Given the description of an element on the screen output the (x, y) to click on. 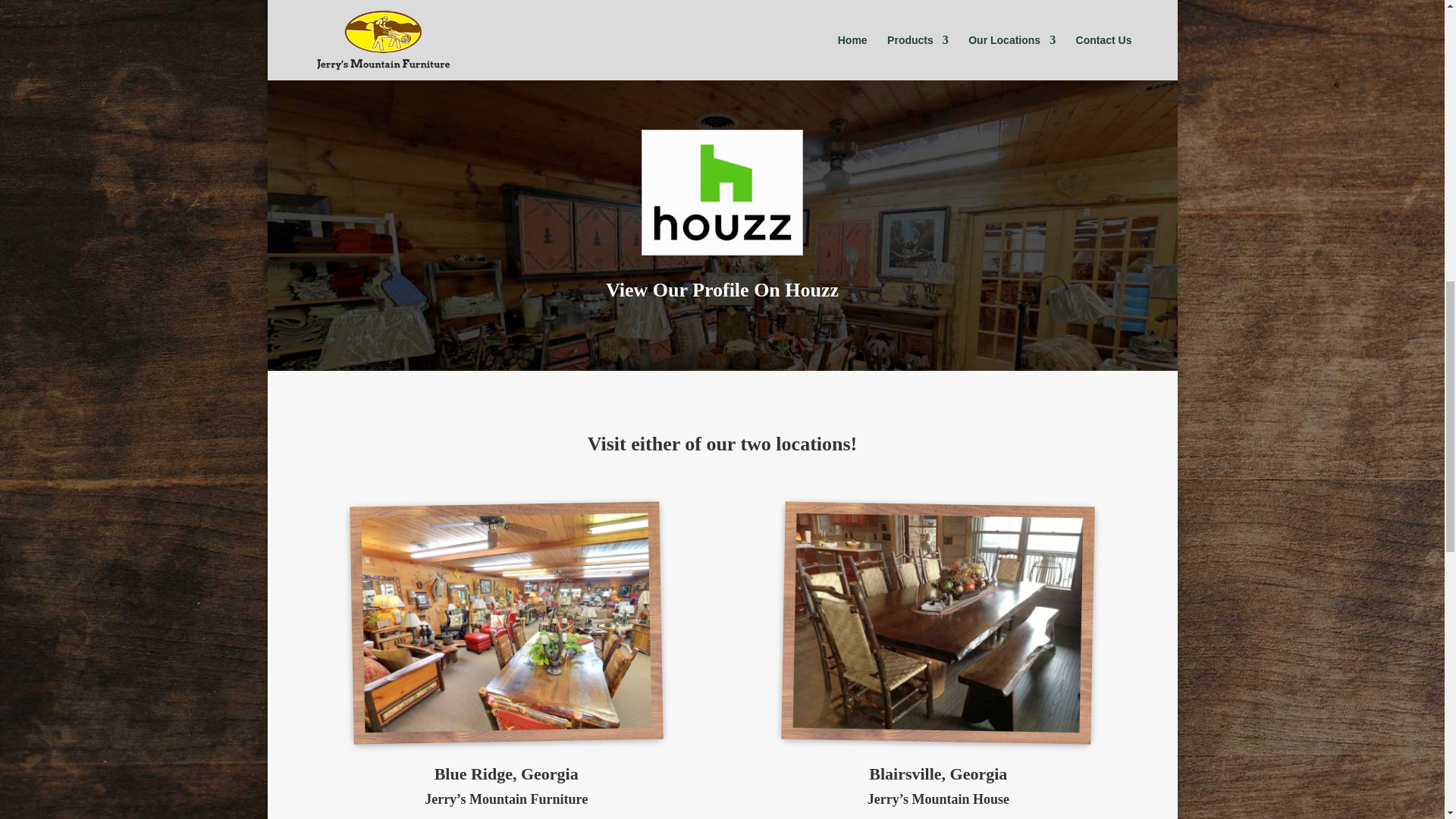
mountainfurniture (504, 620)
houzz2 (722, 192)
mountainhouse (936, 620)
